Given the description of an element on the screen output the (x, y) to click on. 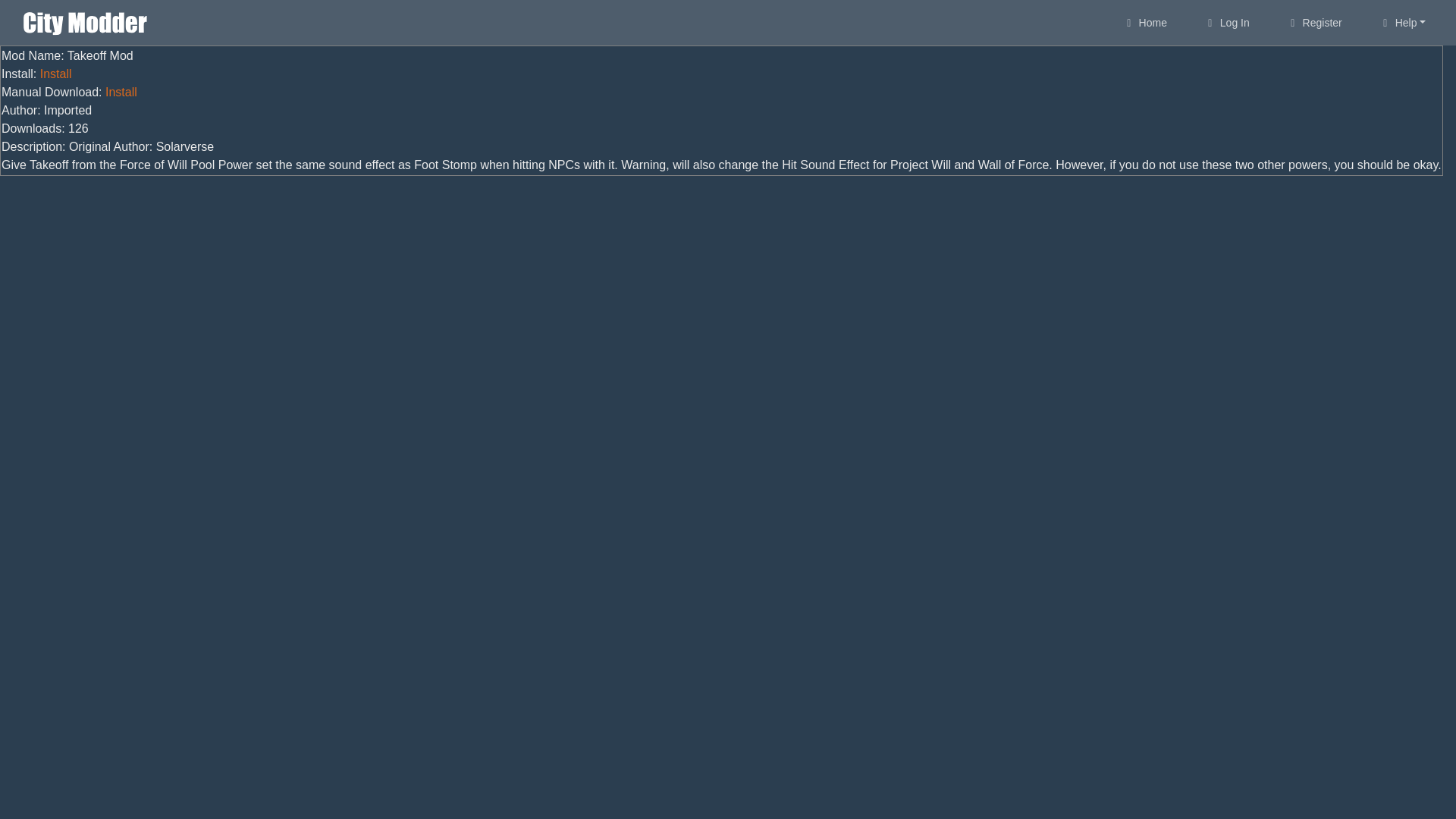
Install (120, 91)
Log In (1226, 22)
Install (55, 73)
Help (1402, 22)
Register (1314, 22)
Home (1144, 22)
